Given the description of an element on the screen output the (x, y) to click on. 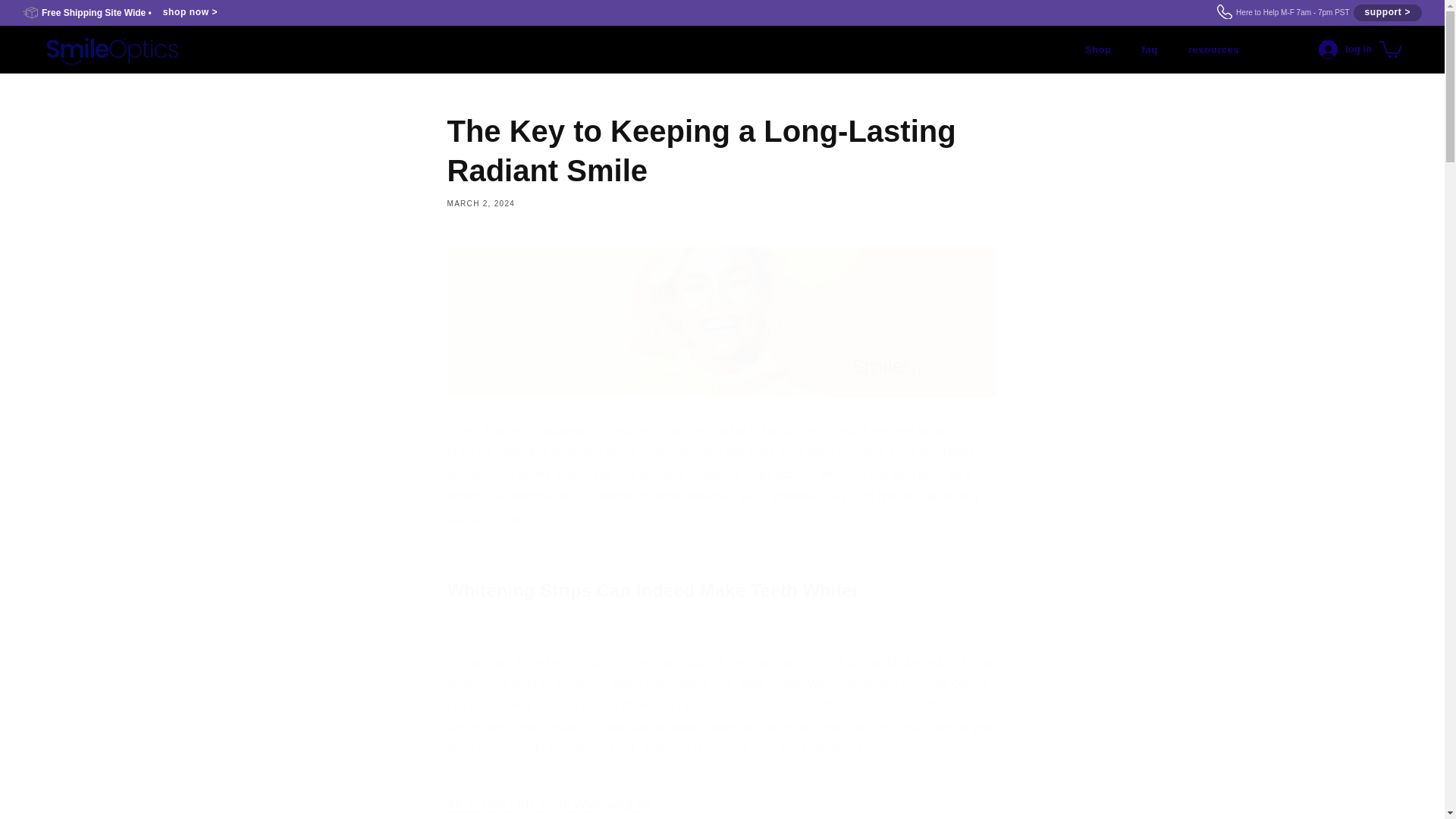
resources (1214, 49)
Shop (1098, 49)
Skip to content (45, 17)
faq (721, 806)
cart (1149, 49)
